Given the description of an element on the screen output the (x, y) to click on. 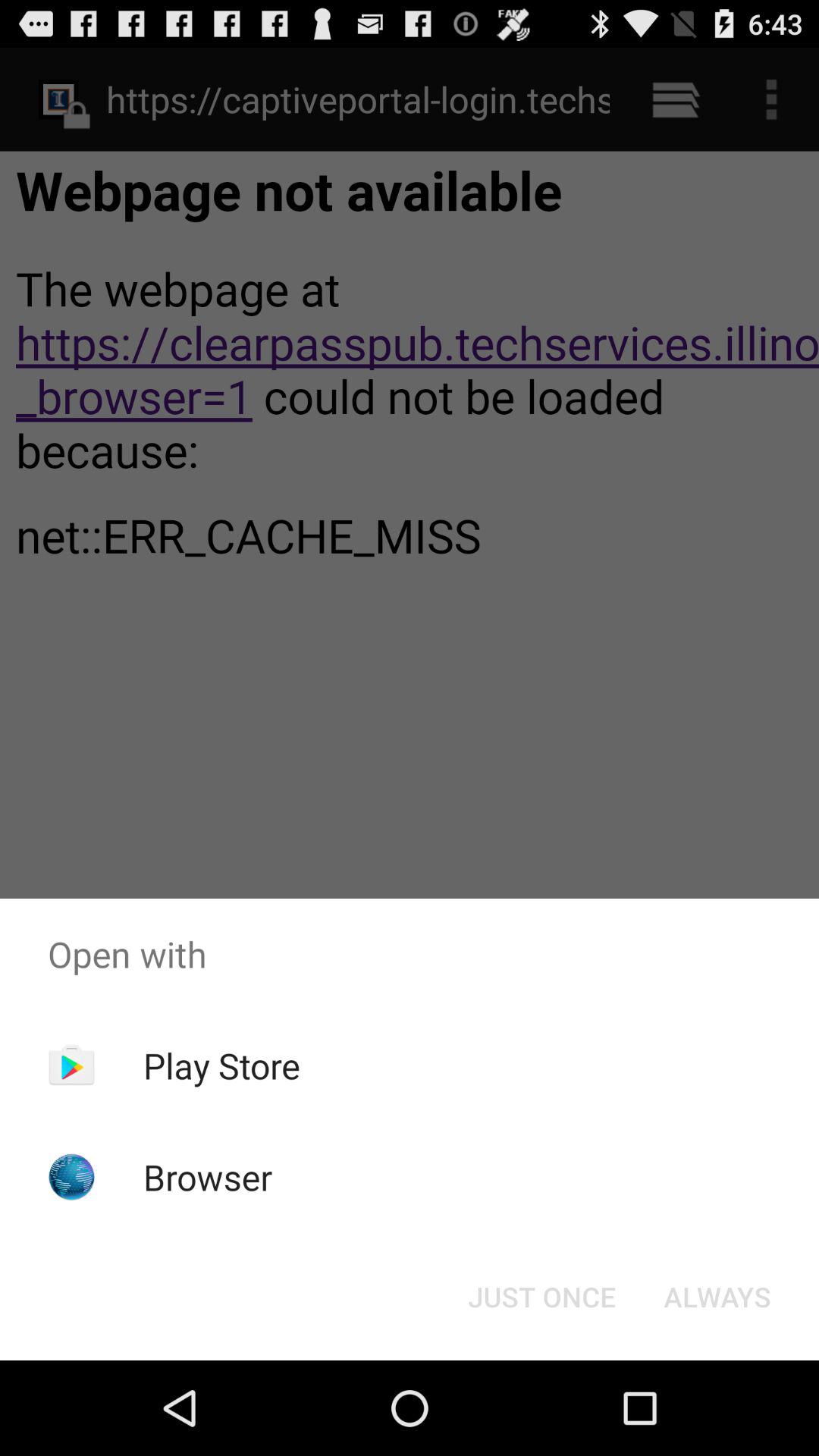
press item at the bottom (541, 1296)
